Given the description of an element on the screen output the (x, y) to click on. 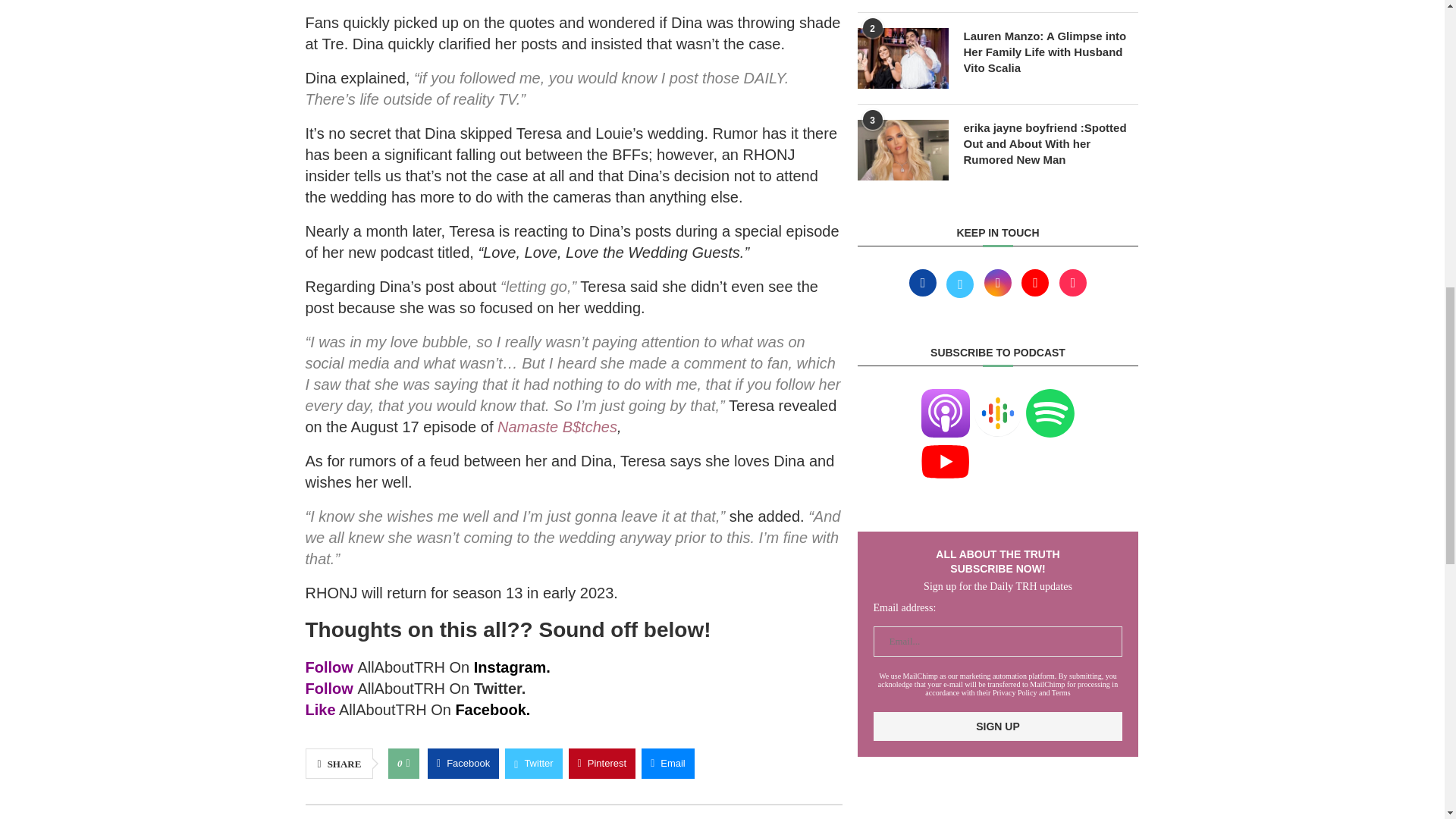
Sign Up (997, 726)
